Given the description of an element on the screen output the (x, y) to click on. 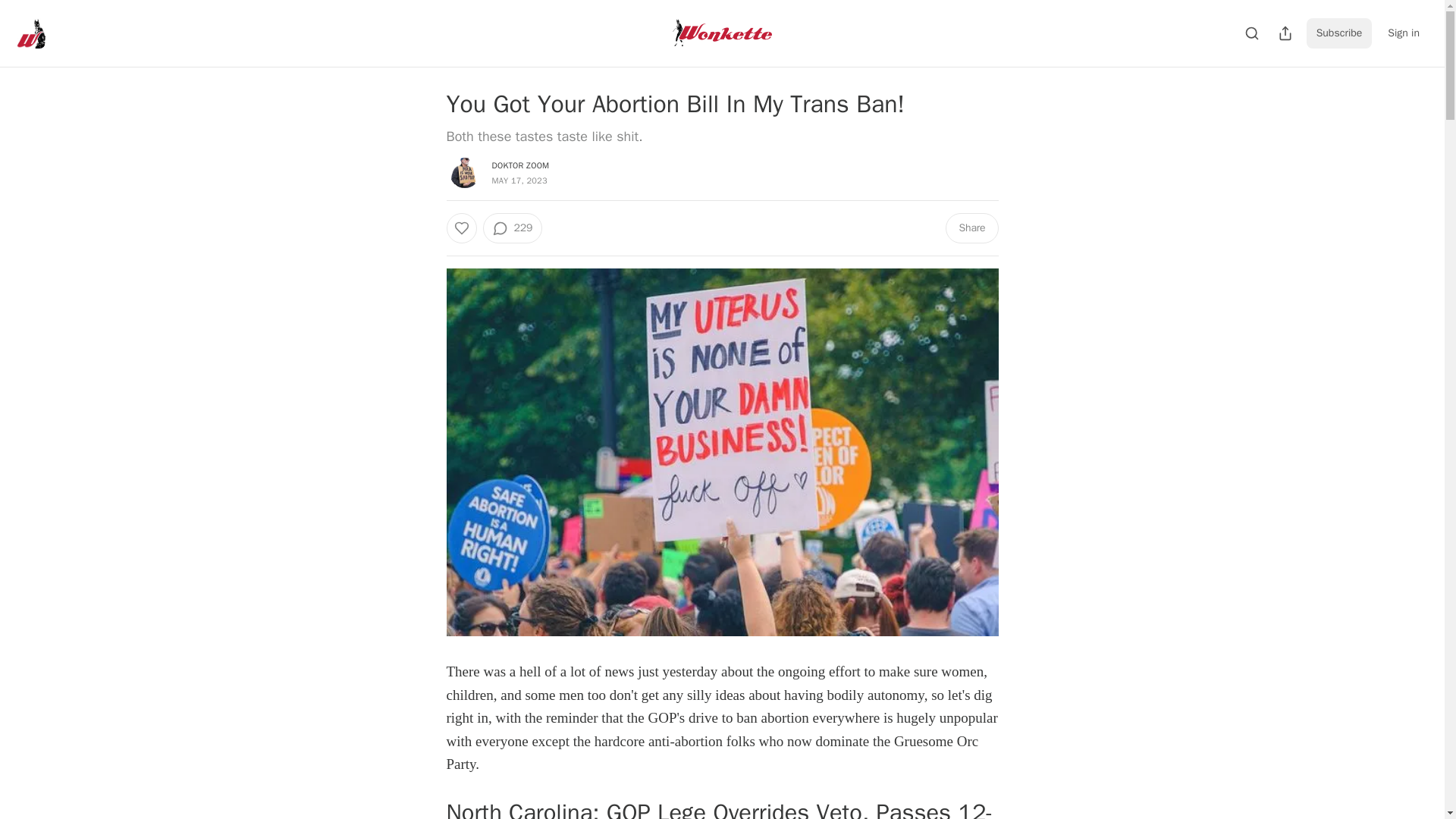
Subscribe (1339, 33)
229 (511, 227)
DOKTOR ZOOM (520, 164)
Share (970, 227)
Sign in (1403, 33)
